Given the description of an element on the screen output the (x, y) to click on. 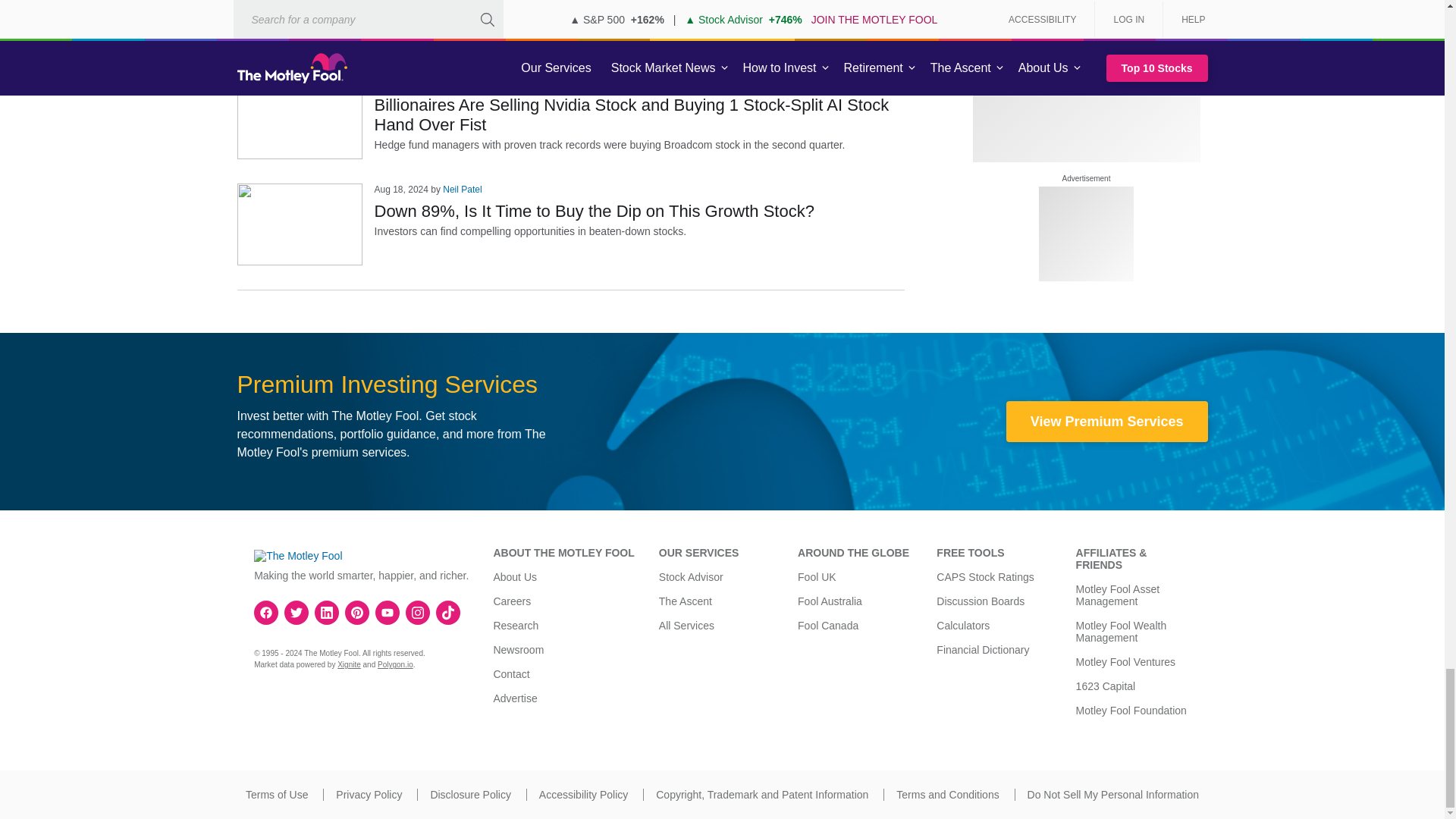
Terms of Use (276, 794)
Terms and Conditions (947, 794)
Copyright, Trademark and Patent Information (761, 794)
Privacy Policy (368, 794)
Disclosure Policy (470, 794)
Accessibility Policy (582, 794)
Do Not Sell My Personal Information. (1112, 794)
